Given the description of an element on the screen output the (x, y) to click on. 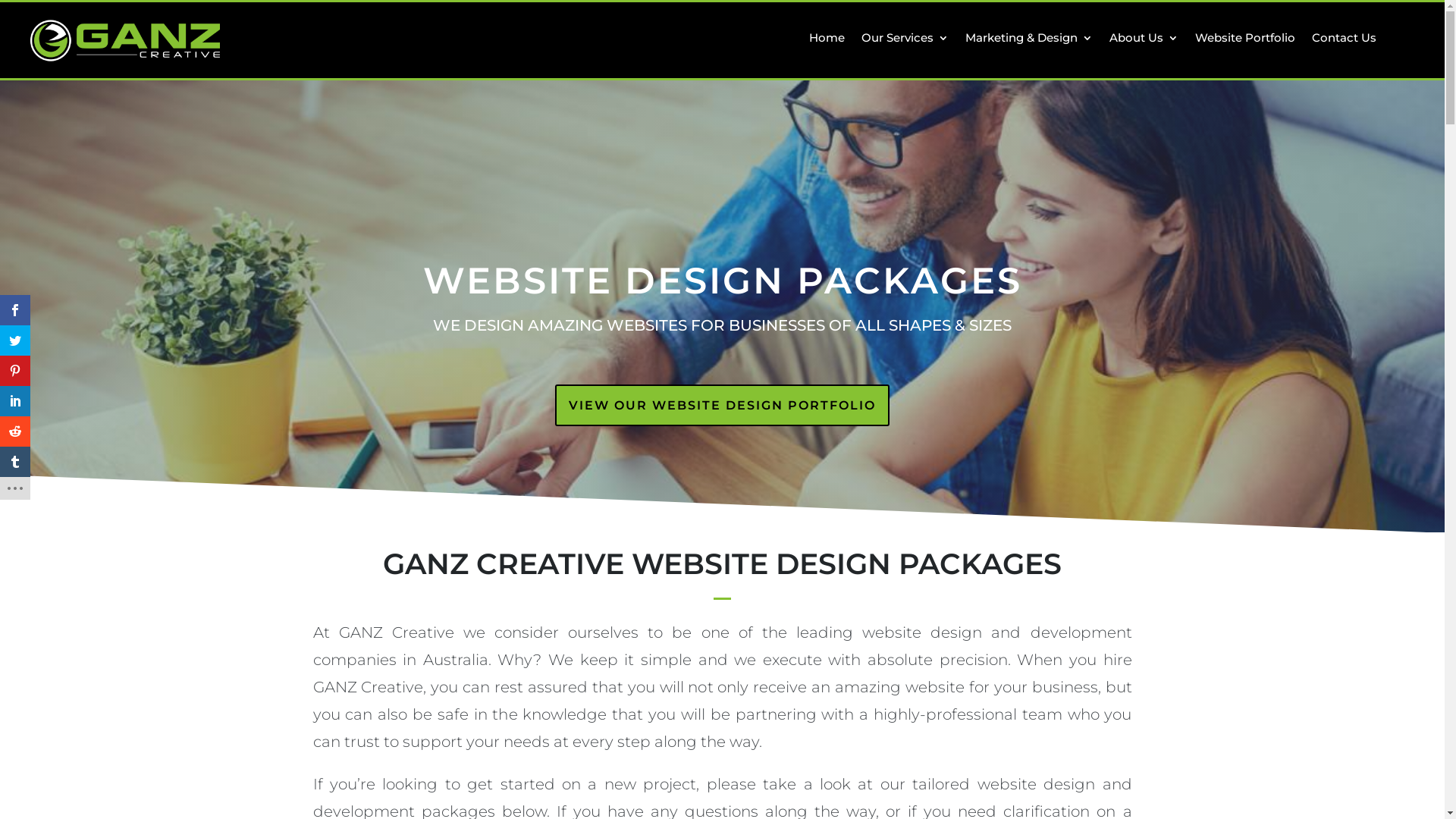
Marketing & Design Element type: text (1028, 40)
Home Element type: text (826, 40)
Website Portfolio Element type: text (1245, 40)
Contact Us Element type: text (1343, 40)
GANZ Creative Website Design Element type: hover (124, 40)
VIEW OUR WEBSITE DESIGN PORTFOLIO Element type: text (722, 405)
About Us Element type: text (1143, 40)
Our Services Element type: text (904, 40)
